Given the description of an element on the screen output the (x, y) to click on. 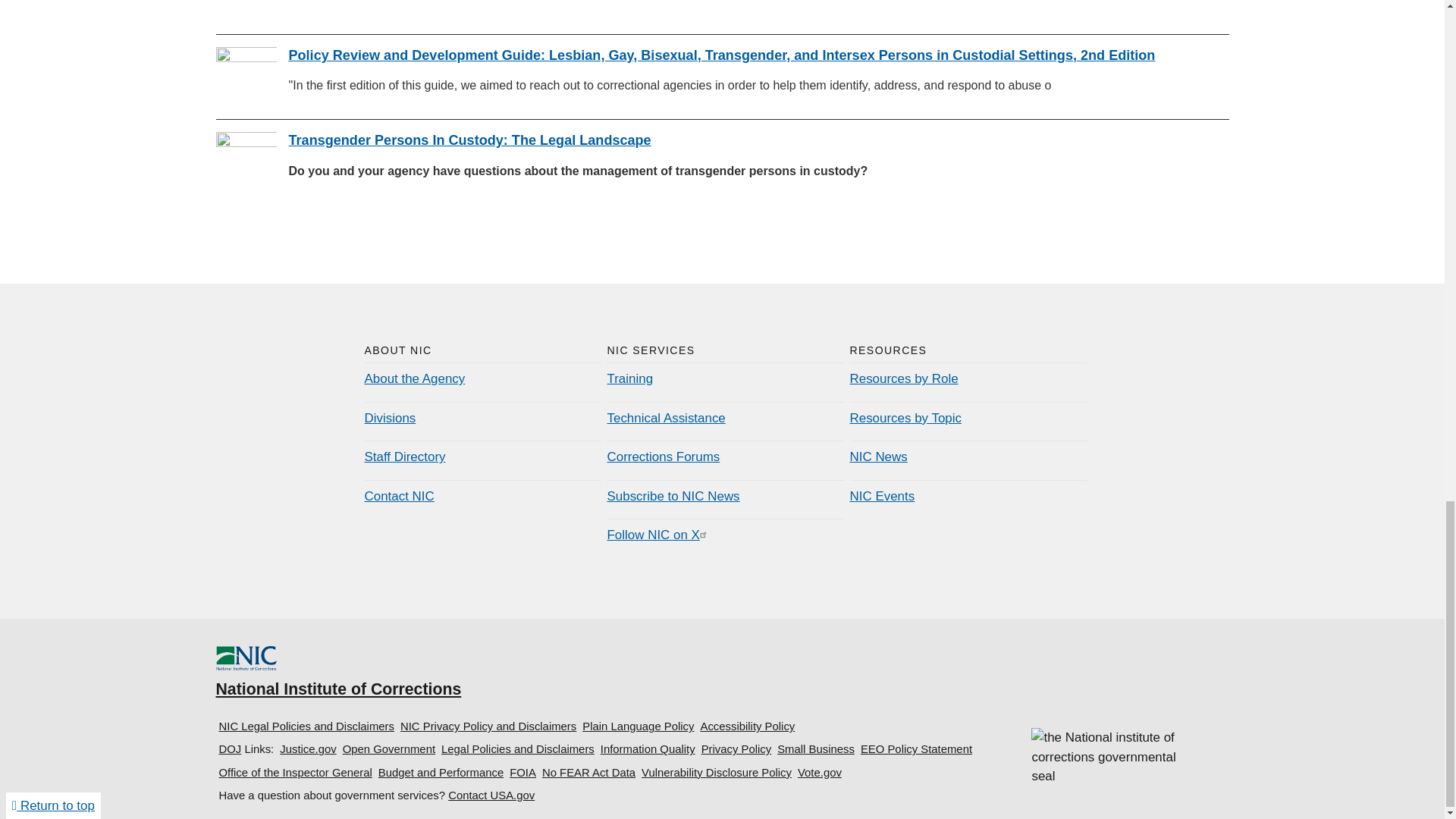
Contact USA.gov (491, 795)
Transgender Persons In Custody: The Legal Landscape (469, 140)
